Given the description of an element on the screen output the (x, y) to click on. 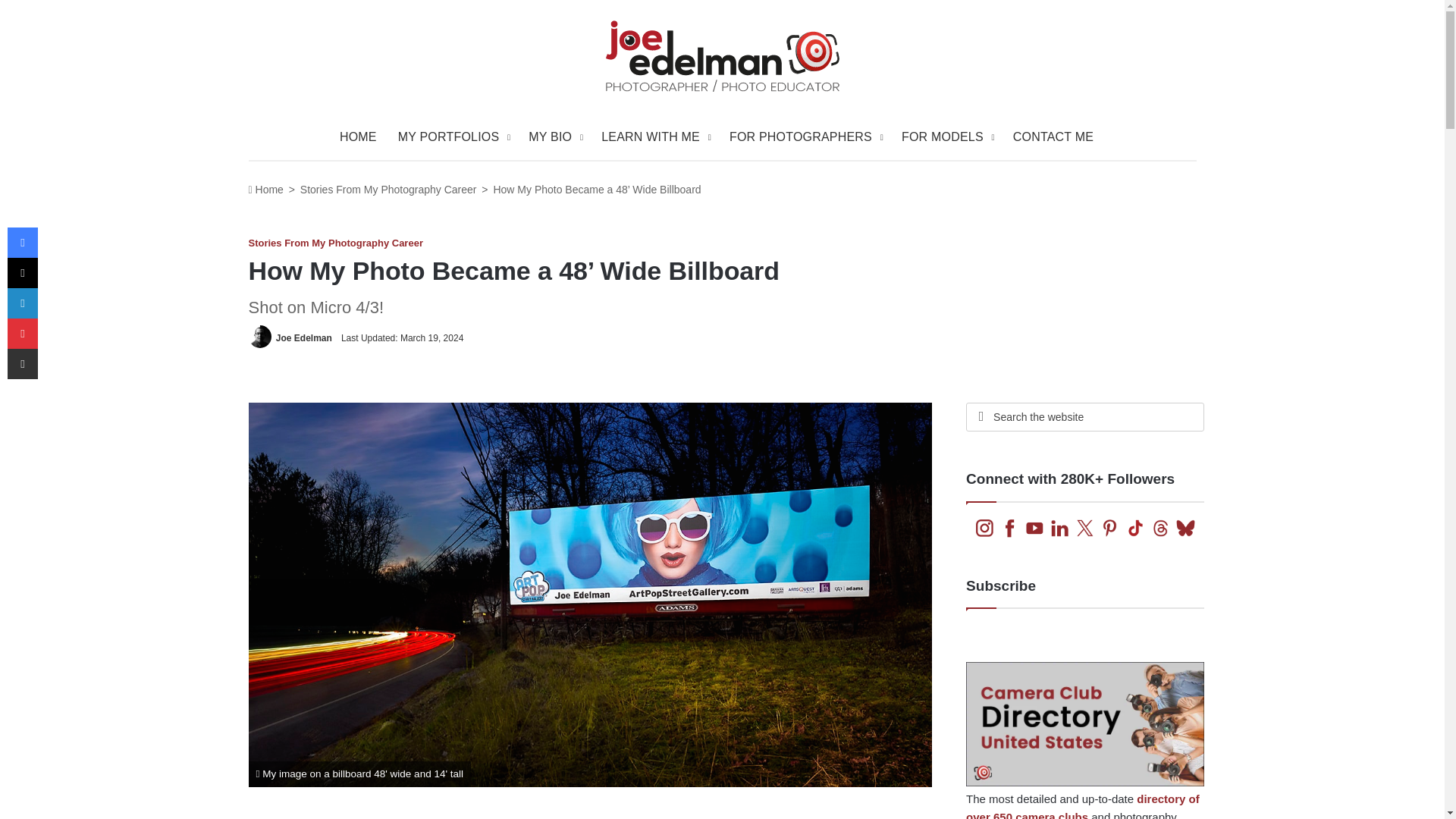
MY BIO (554, 136)
FOR PHOTOGRAPHERS (805, 136)
HOME (358, 136)
FOR MODELS (947, 136)
CONTACT ME (1053, 136)
Home (265, 189)
Photography Articles (805, 136)
Portfolio of Images (452, 136)
Joe Edelman - Photographer and Photo Educator Logo (722, 55)
LEARN WITH ME (655, 136)
MY PORTFOLIOS (452, 136)
Learn about Joe Edelman (554, 136)
